Given the description of an element on the screen output the (x, y) to click on. 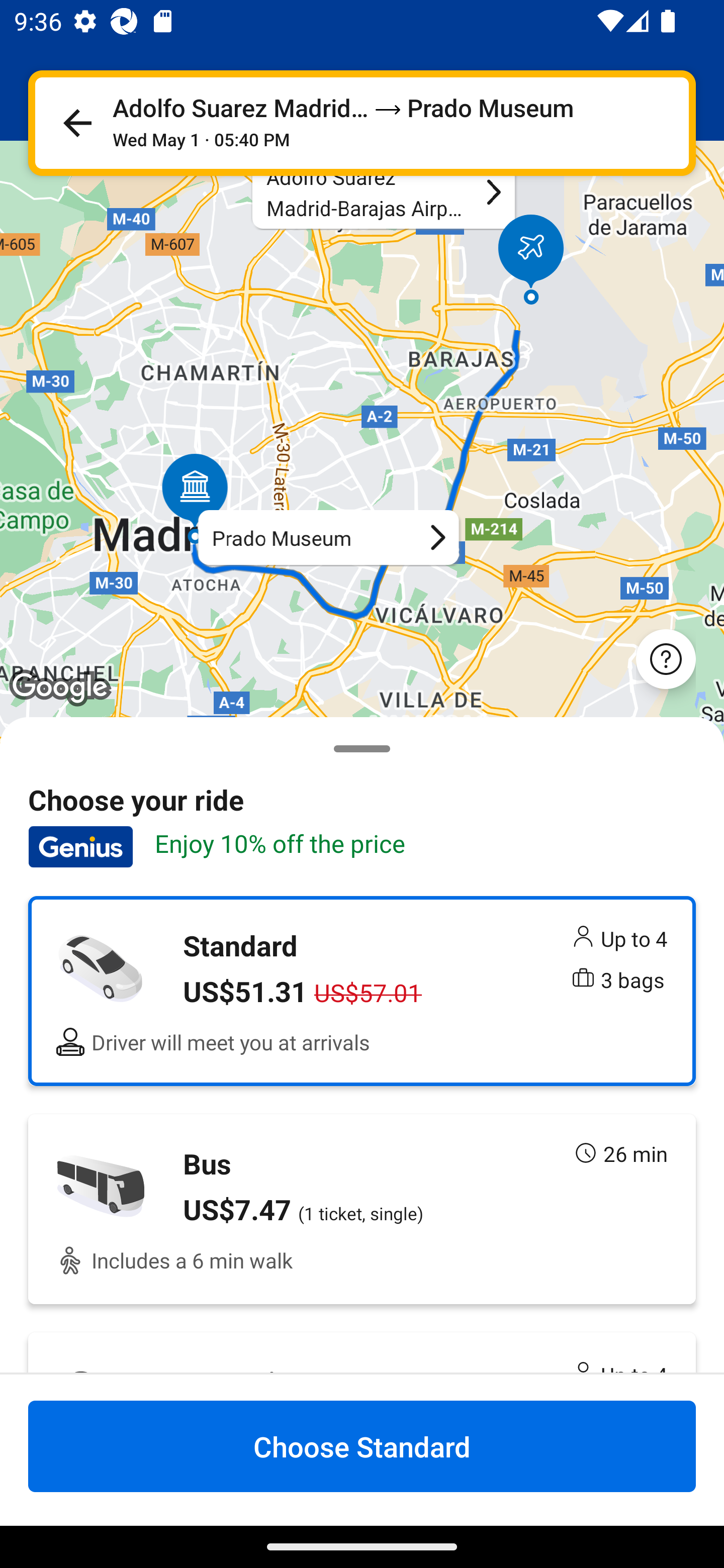
Back (77, 122)
Help center (665, 658)
Choose Standard (361, 1446)
